Given the description of an element on the screen output the (x, y) to click on. 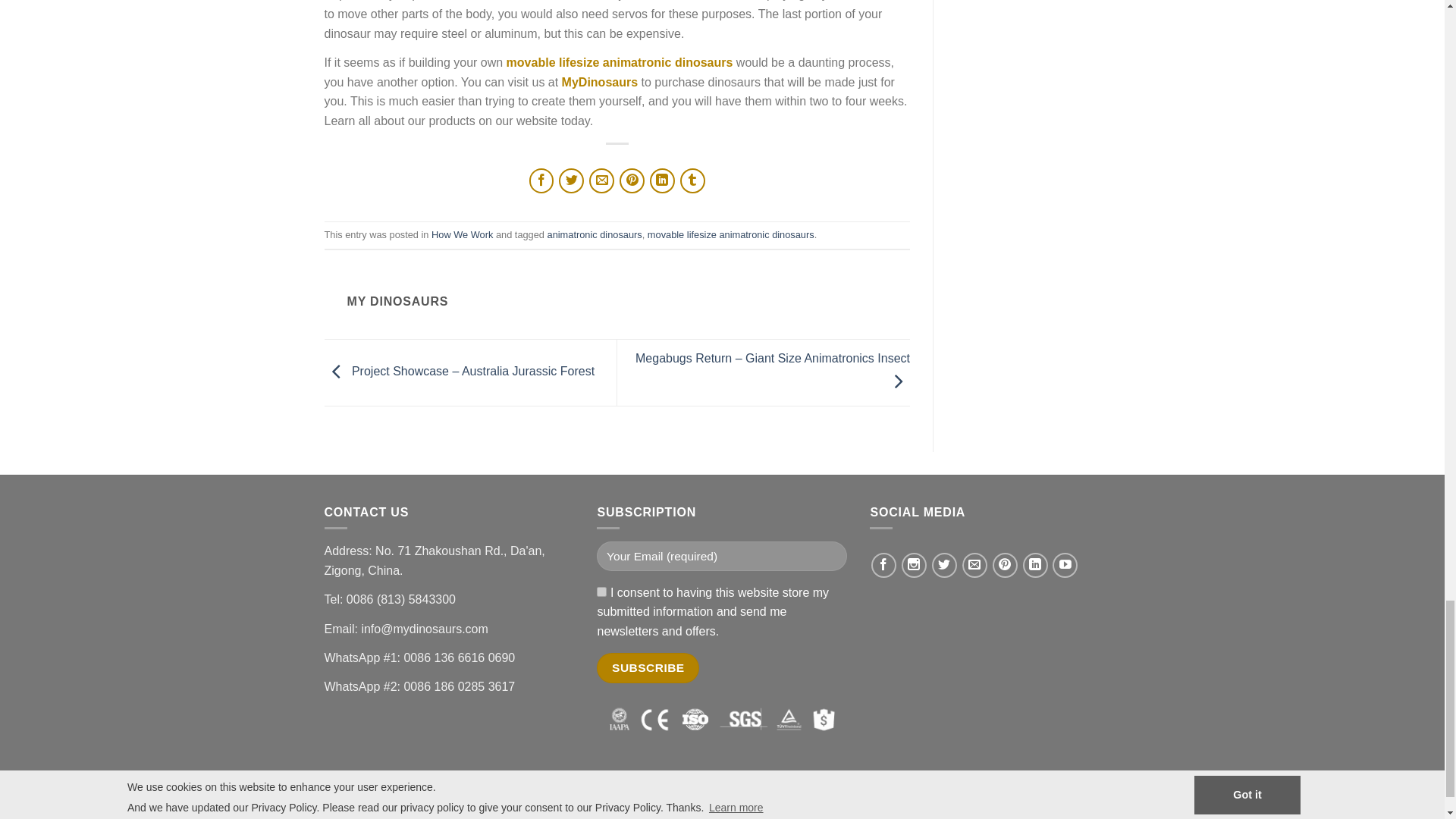
Subscribe (647, 667)
1 (601, 592)
